Given the description of an element on the screen output the (x, y) to click on. 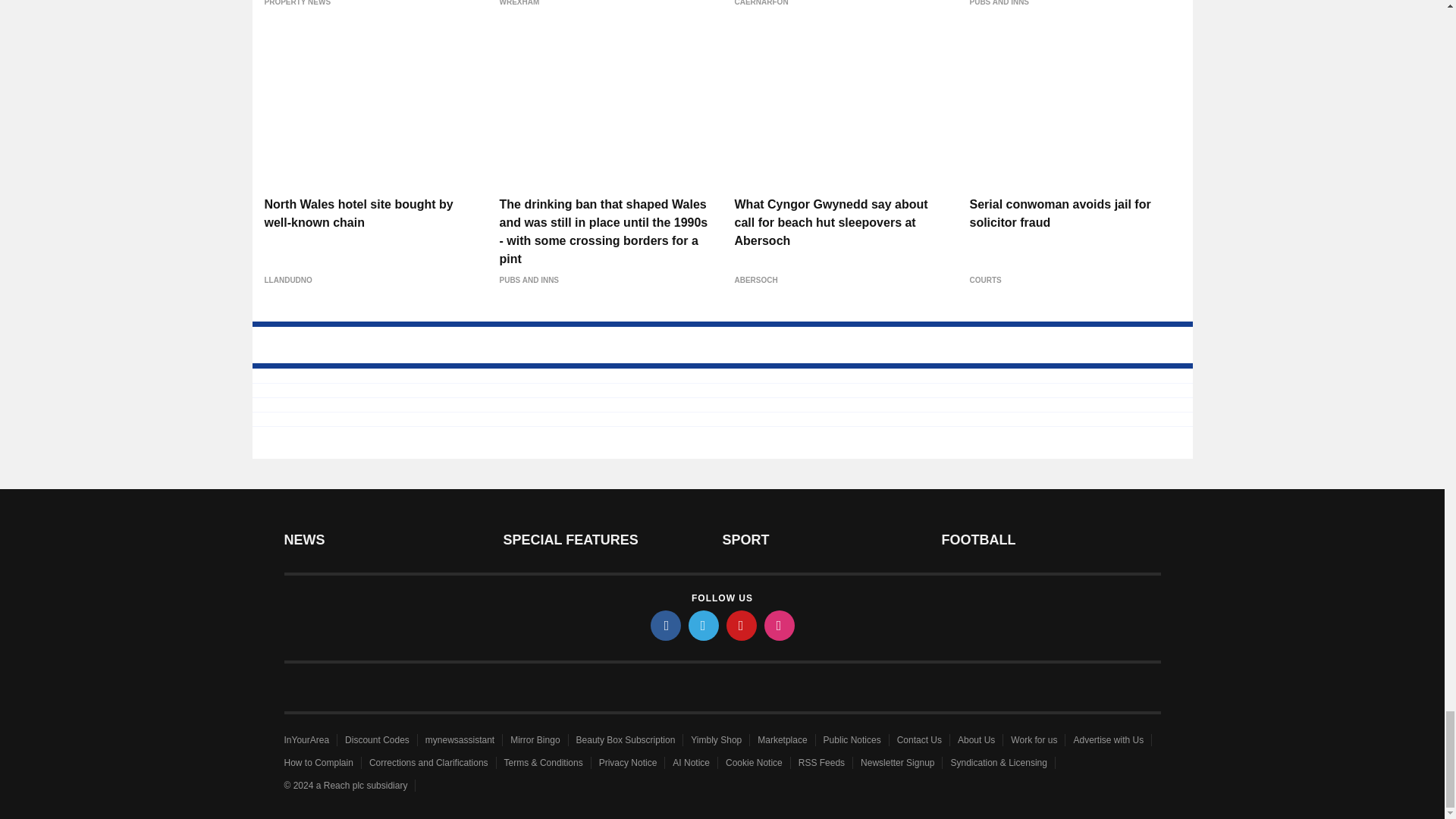
instagram (779, 625)
twitter (703, 625)
facebook (665, 625)
pinterest (741, 625)
